Given the description of an element on the screen output the (x, y) to click on. 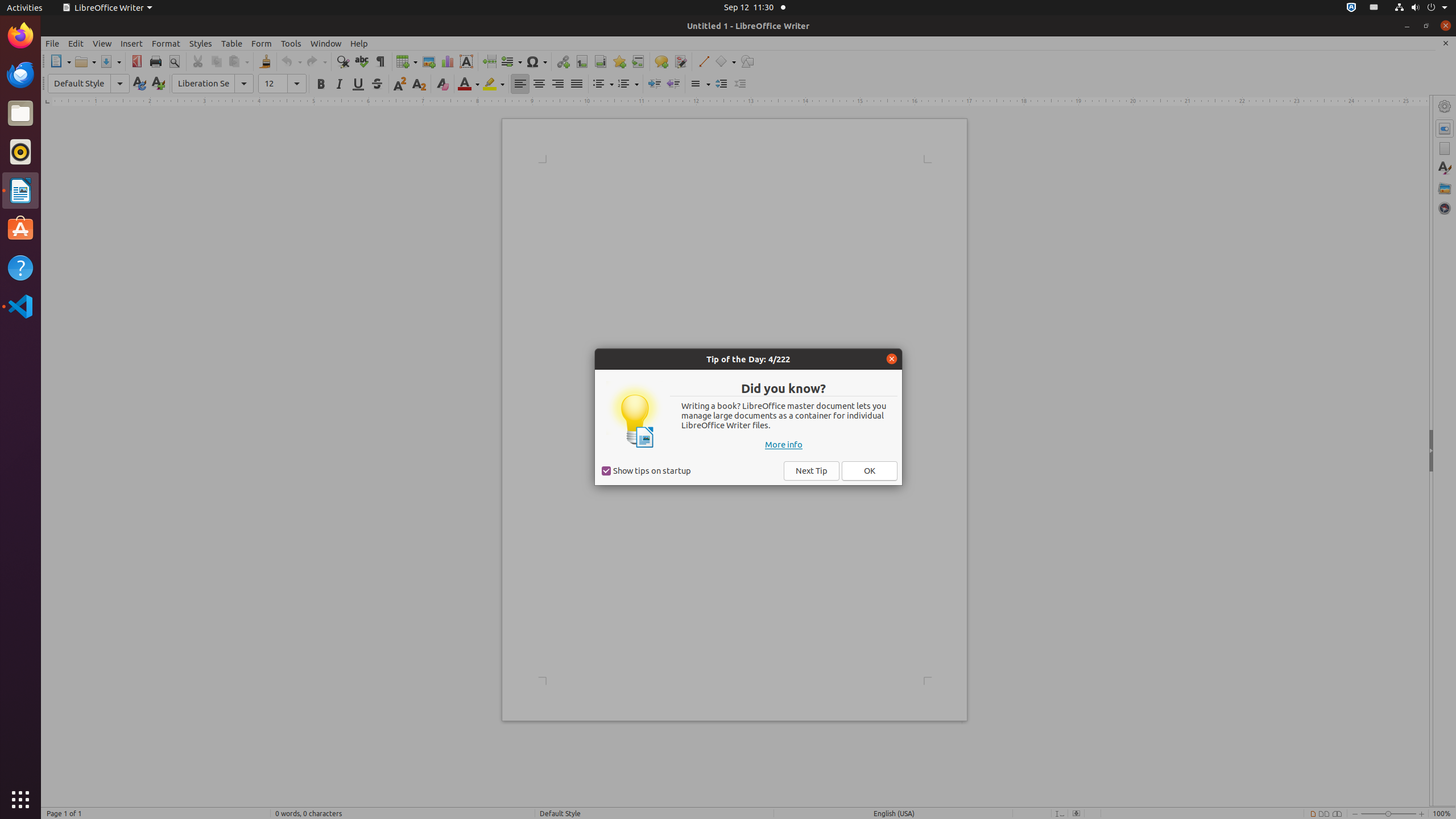
org.kde.StatusNotifierItem-14077-1 Element type: menu (1373, 7)
